Given the description of an element on the screen output the (x, y) to click on. 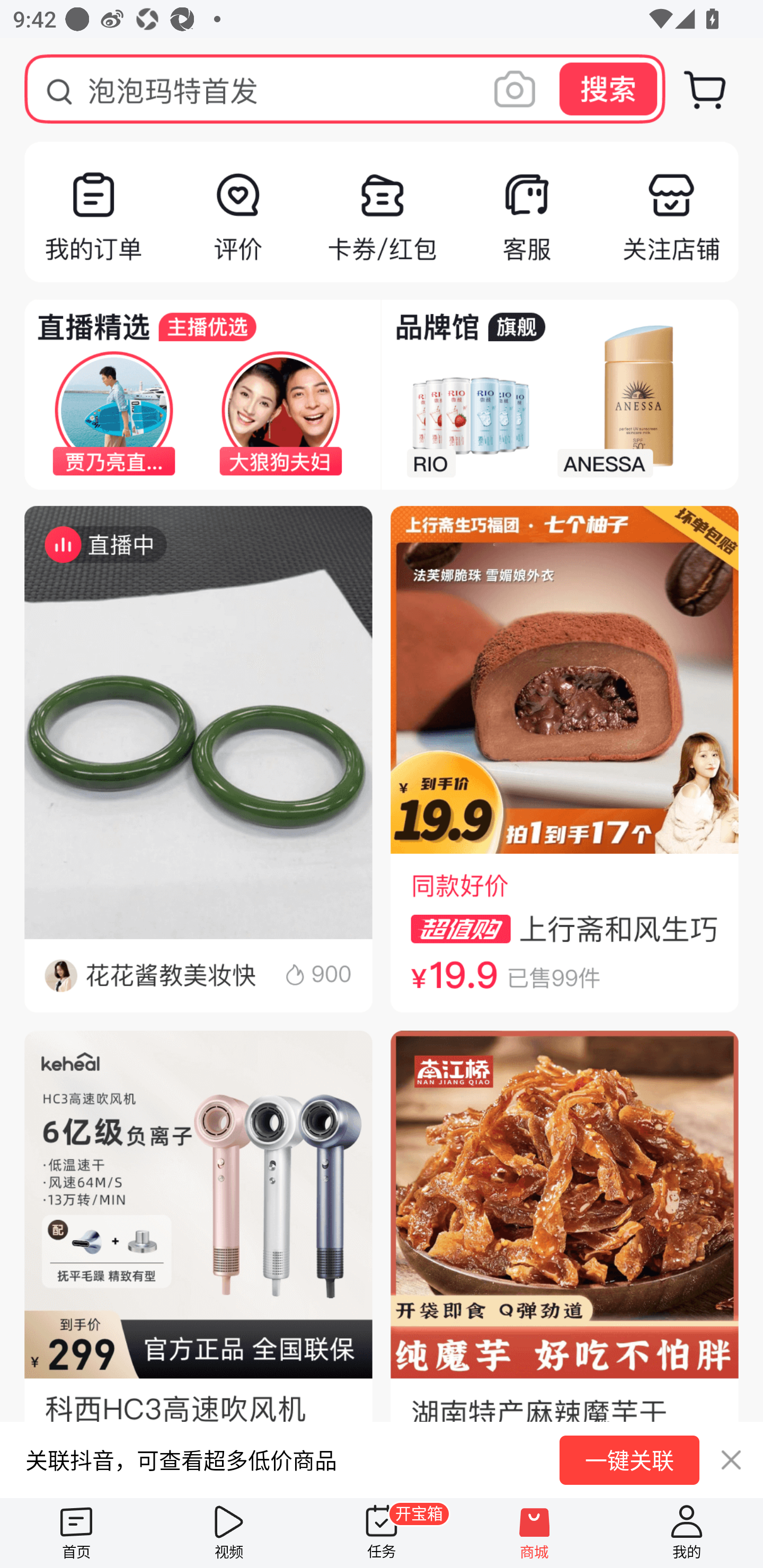
关联抖音，可查看超多低价商品 一键关联 (381, 1459)
一键关联 (629, 1460)
首页 (76, 1532)
视频 (228, 1532)
任务 开宝箱 (381, 1532)
商城 (533, 1532)
我的 (686, 1532)
